Given the description of an element on the screen output the (x, y) to click on. 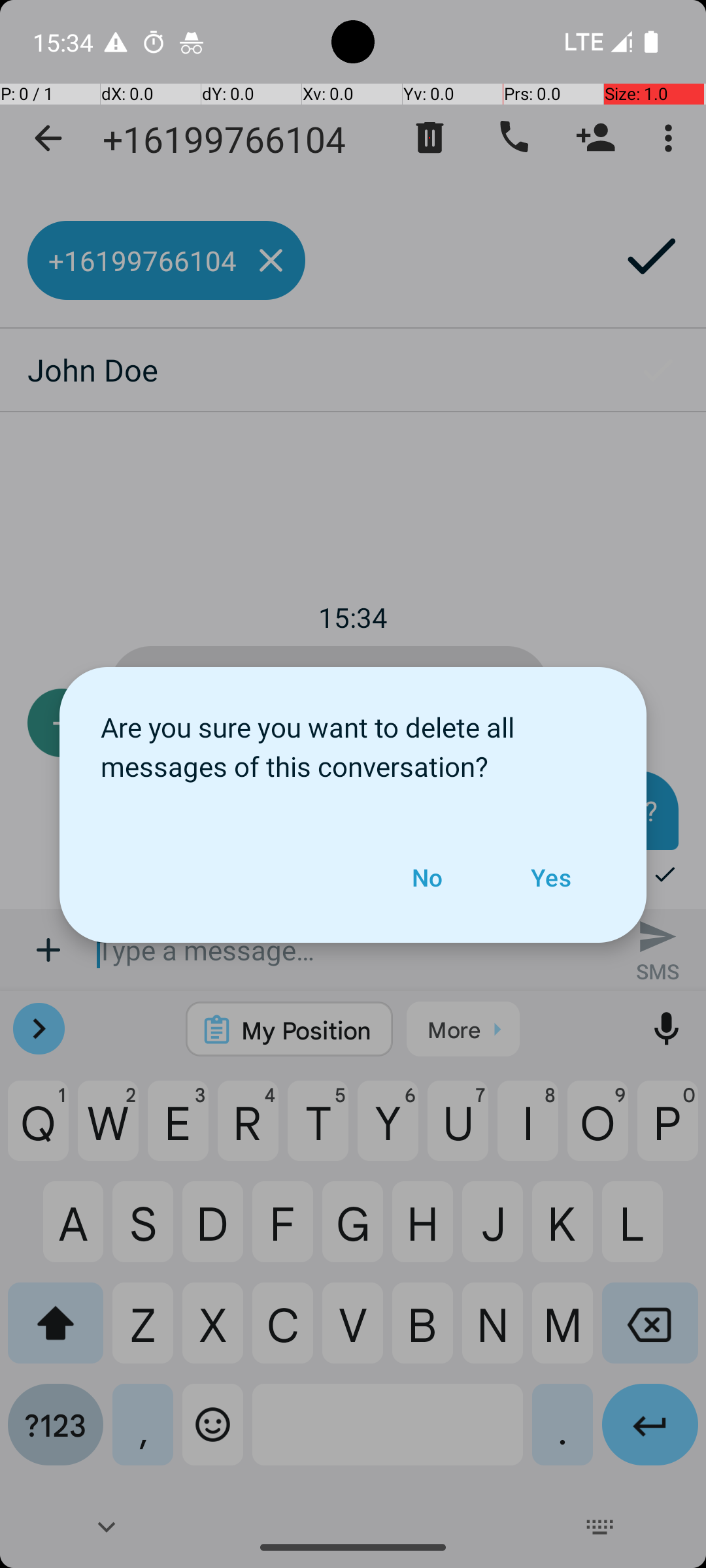
Are you sure you want to delete all messages of this conversation? Element type: android.widget.TextView (352, 739)
No Element type: android.widget.Button (426, 877)
Yes Element type: android.widget.Button (550, 877)
